Given the description of an element on the screen output the (x, y) to click on. 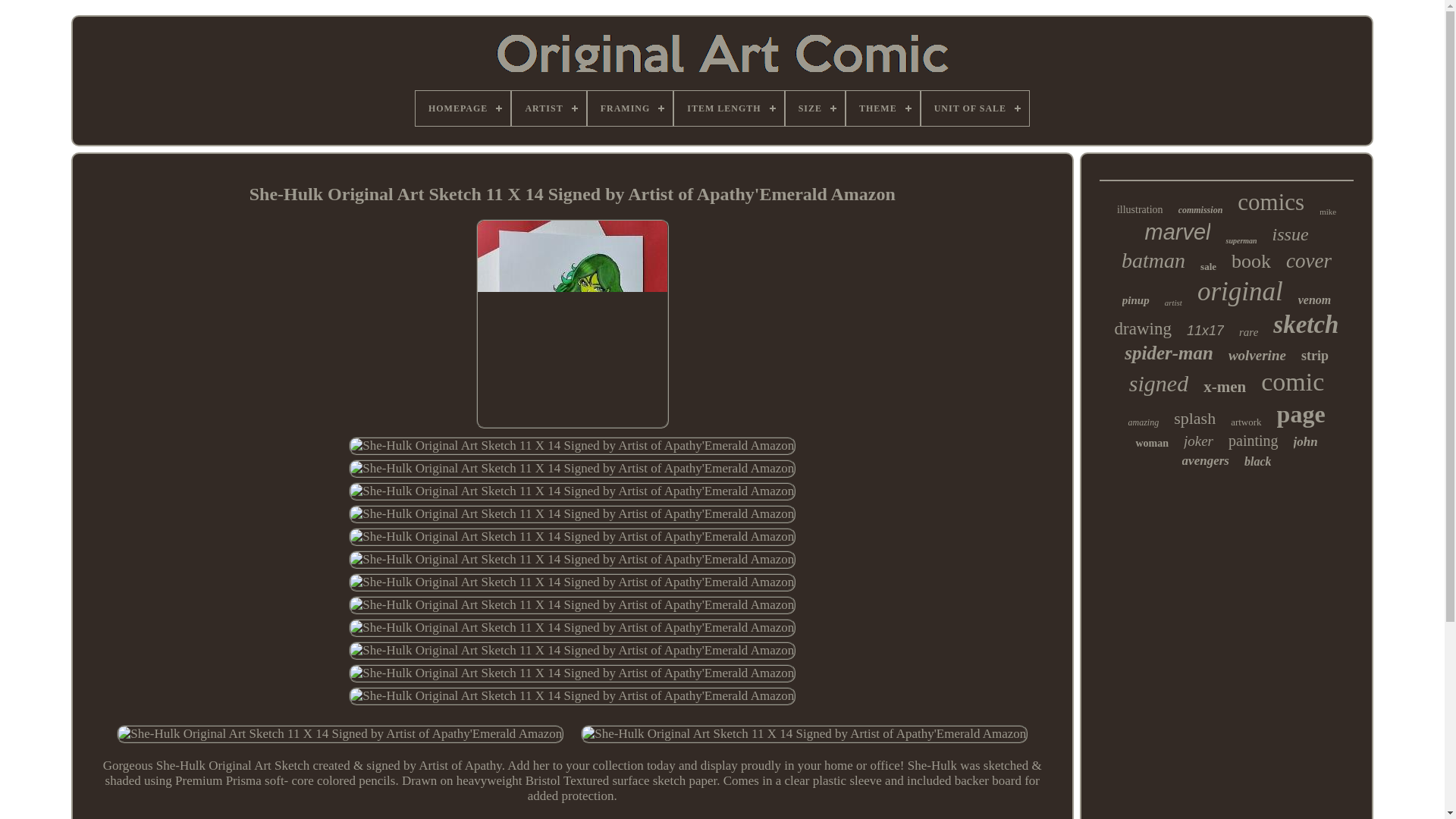
FRAMING (630, 108)
ARTIST (548, 108)
HOMEPAGE (462, 108)
ITEM LENGTH (728, 108)
